Given the description of an element on the screen output the (x, y) to click on. 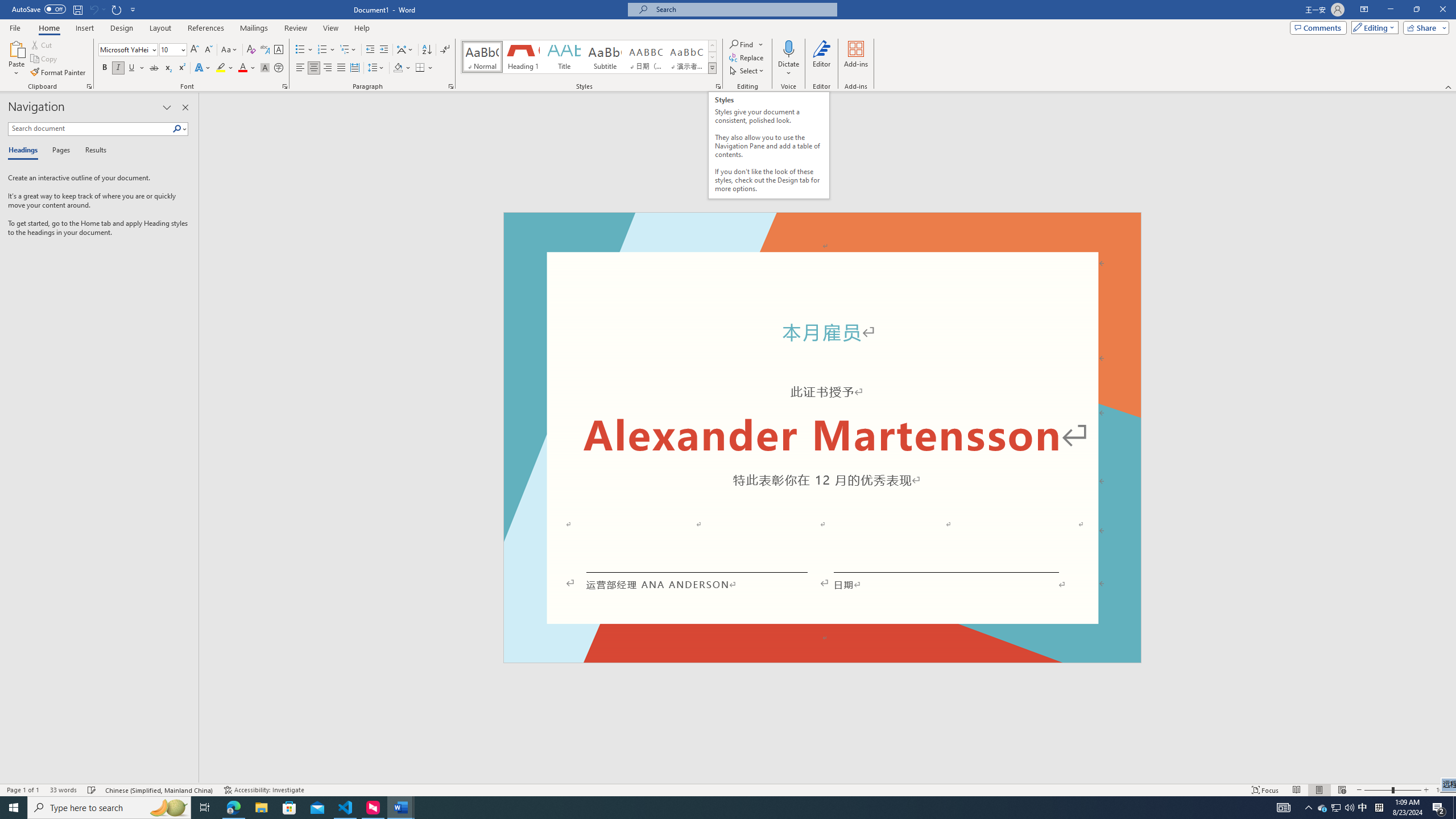
Footer -Section 1- (822, 657)
Shading RGB(0, 0, 0) (397, 67)
Subscript (167, 67)
Font... (285, 85)
Header -Section 1- (822, 225)
Text Highlight Color Yellow (220, 67)
Decorative (822, 437)
Styles... (717, 85)
Title (564, 56)
